Given the description of an element on the screen output the (x, y) to click on. 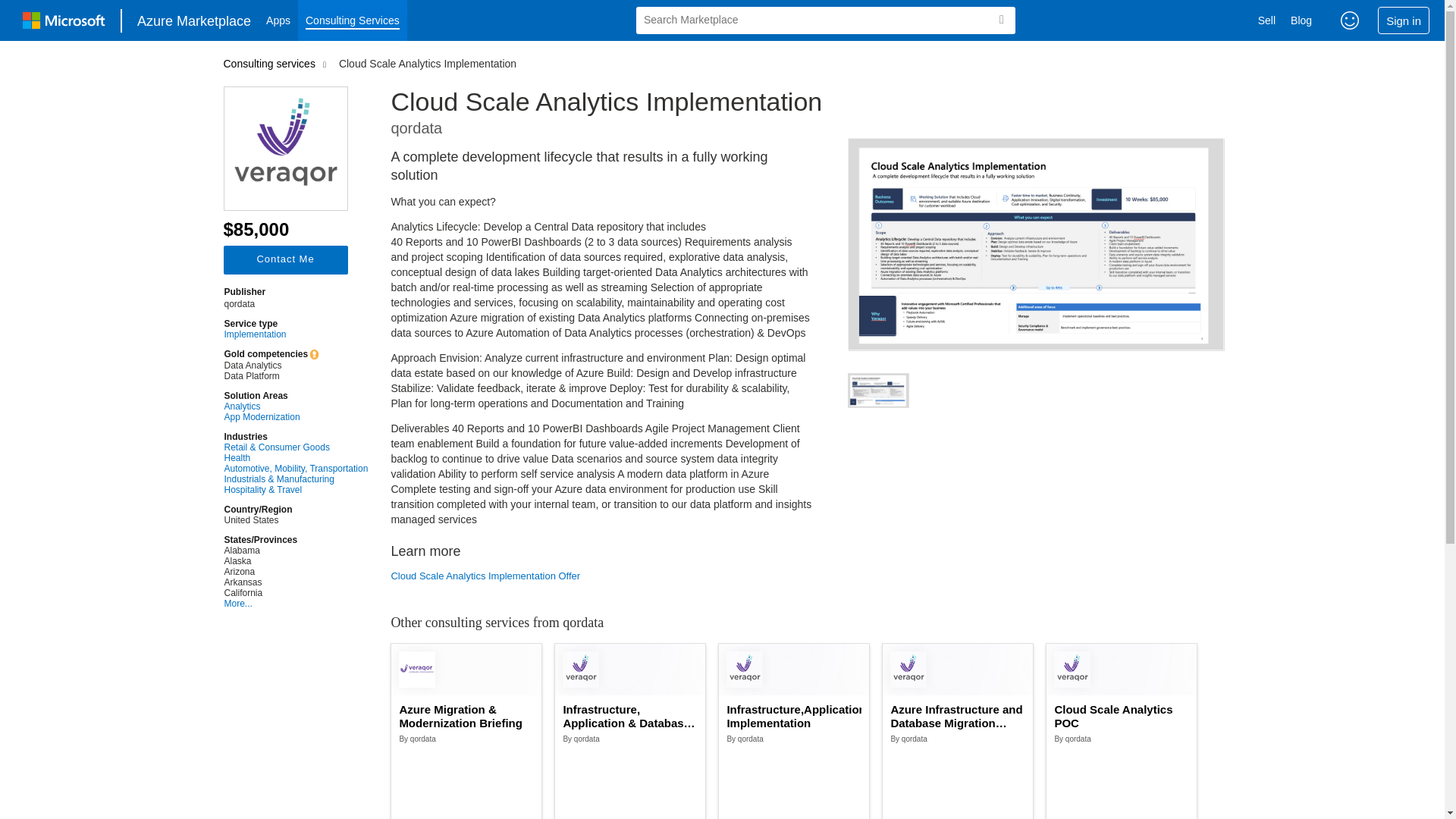
Search (1001, 19)
Azure Marketplace (194, 20)
Sign in (1403, 20)
Blog (1300, 20)
Search  (1001, 19)
Consulting Services (352, 20)
Sign in (1403, 20)
Apps (278, 20)
Feedback (1349, 20)
Cloud Scale Analytics POC (1121, 716)
